Given the description of an element on the screen output the (x, y) to click on. 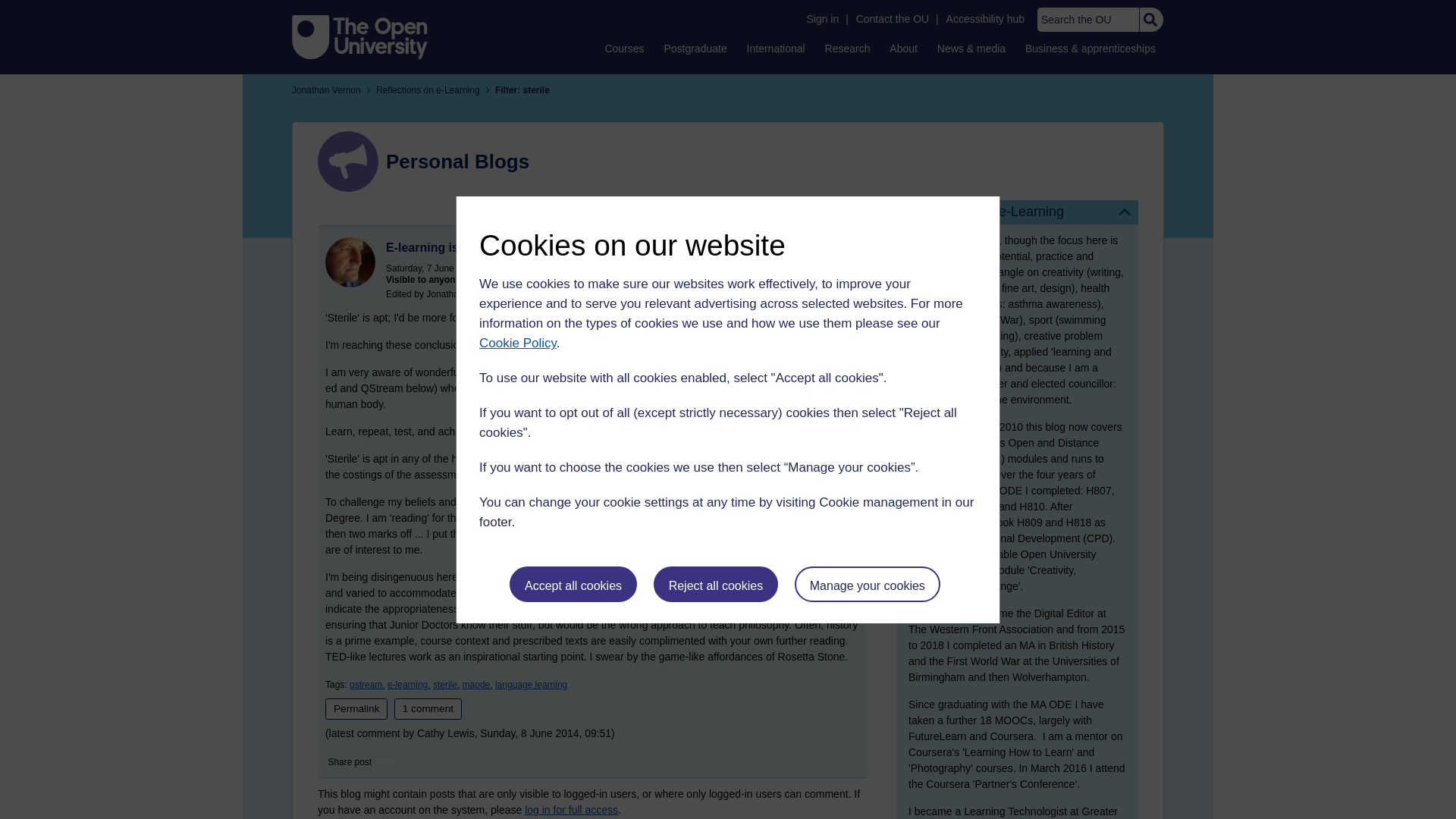
Search (1149, 19)
About (903, 48)
Accessibility hub (985, 19)
Accept all cookies (573, 583)
Reject all cookies (715, 583)
Reflections on e-Learning (1017, 211)
Postgraduate (695, 48)
Manage your cookies (867, 583)
Sign in (822, 19)
Research (847, 48)
The Open University (360, 36)
Search (1149, 19)
Cookie Policy (517, 342)
Contact the OU (892, 19)
